Given the description of an element on the screen output the (x, y) to click on. 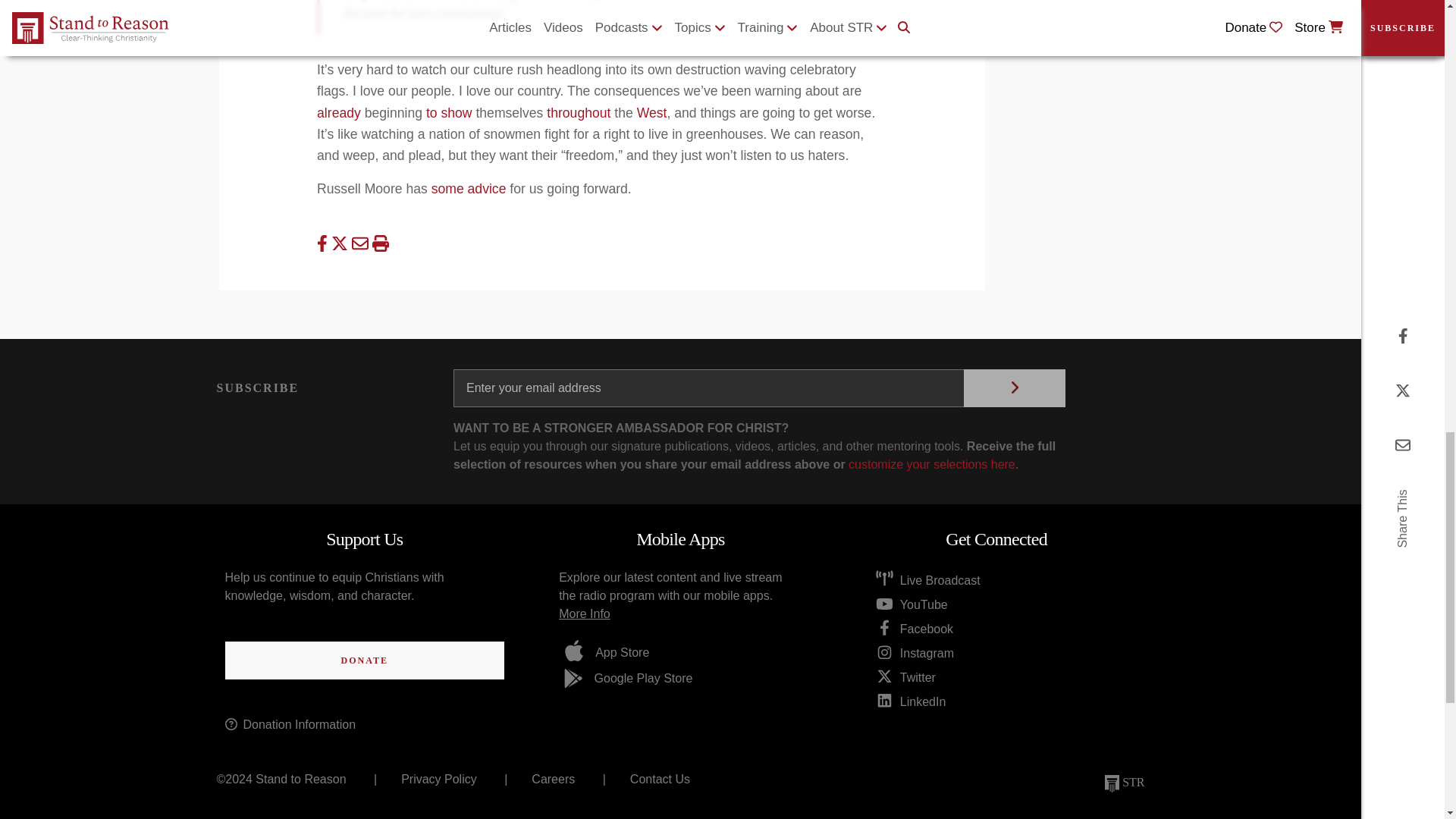
Share on Twitter (341, 242)
Printer Friendly and PDF (379, 242)
Share on Facebook (324, 242)
Email (362, 242)
